Given the description of an element on the screen output the (x, y) to click on. 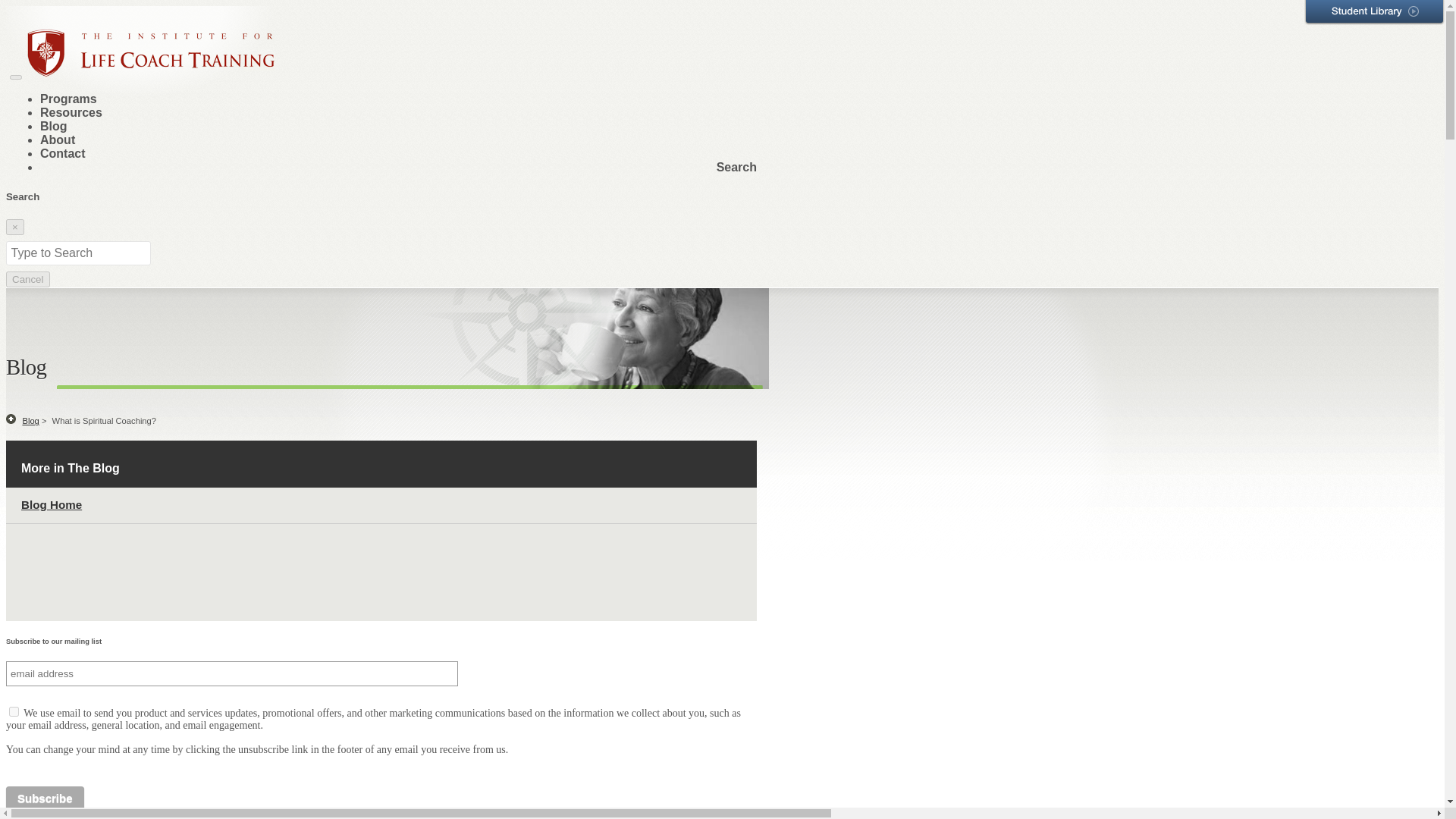
Resources (70, 112)
on (13, 711)
Blog (53, 125)
Search (736, 167)
Subscribe (44, 798)
Blog (30, 420)
About (57, 139)
Contact (62, 153)
Programs (68, 98)
Cancel (27, 279)
Blog Home (51, 504)
Subscribe (44, 798)
